Given the description of an element on the screen output the (x, y) to click on. 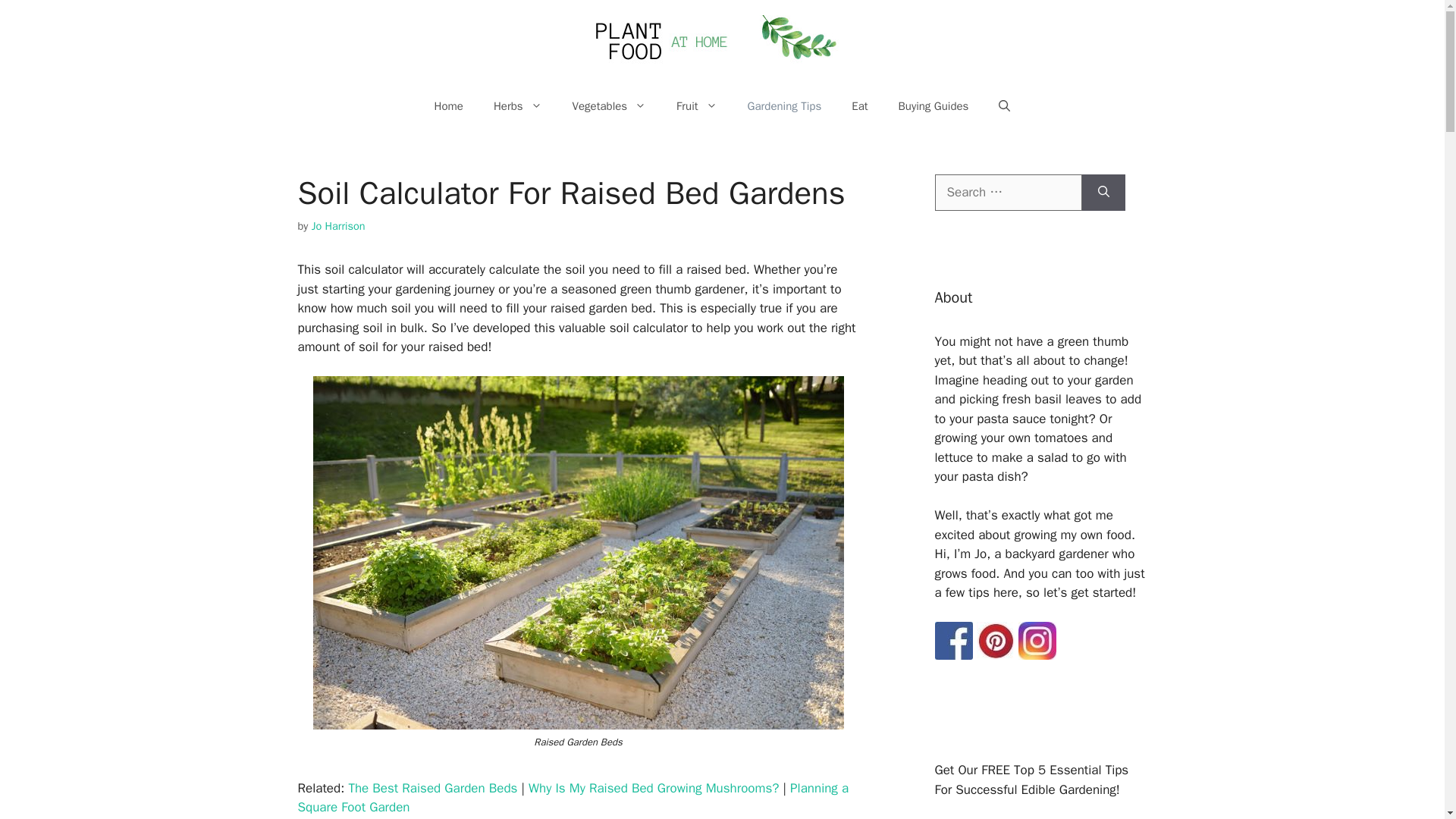
Home (449, 105)
Herbs (518, 105)
Vegetables (609, 105)
View all posts by Jo Harrison (338, 225)
Search for: (1007, 192)
